Given the description of an element on the screen output the (x, y) to click on. 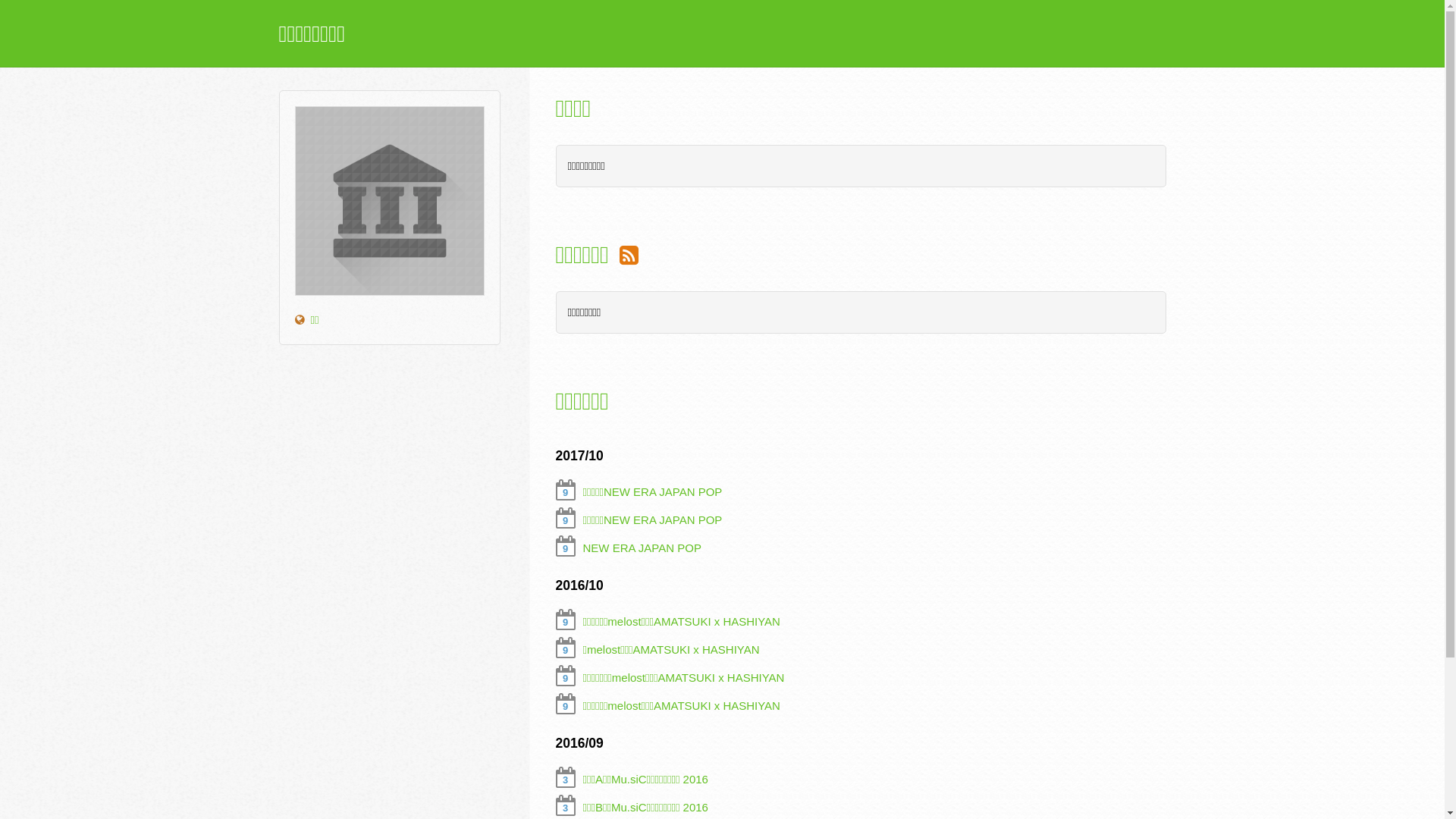
Organization Events RSS Element type: hover (628, 254)
NEW ERA JAPAN POP Element type: text (641, 547)
